Given the description of an element on the screen output the (x, y) to click on. 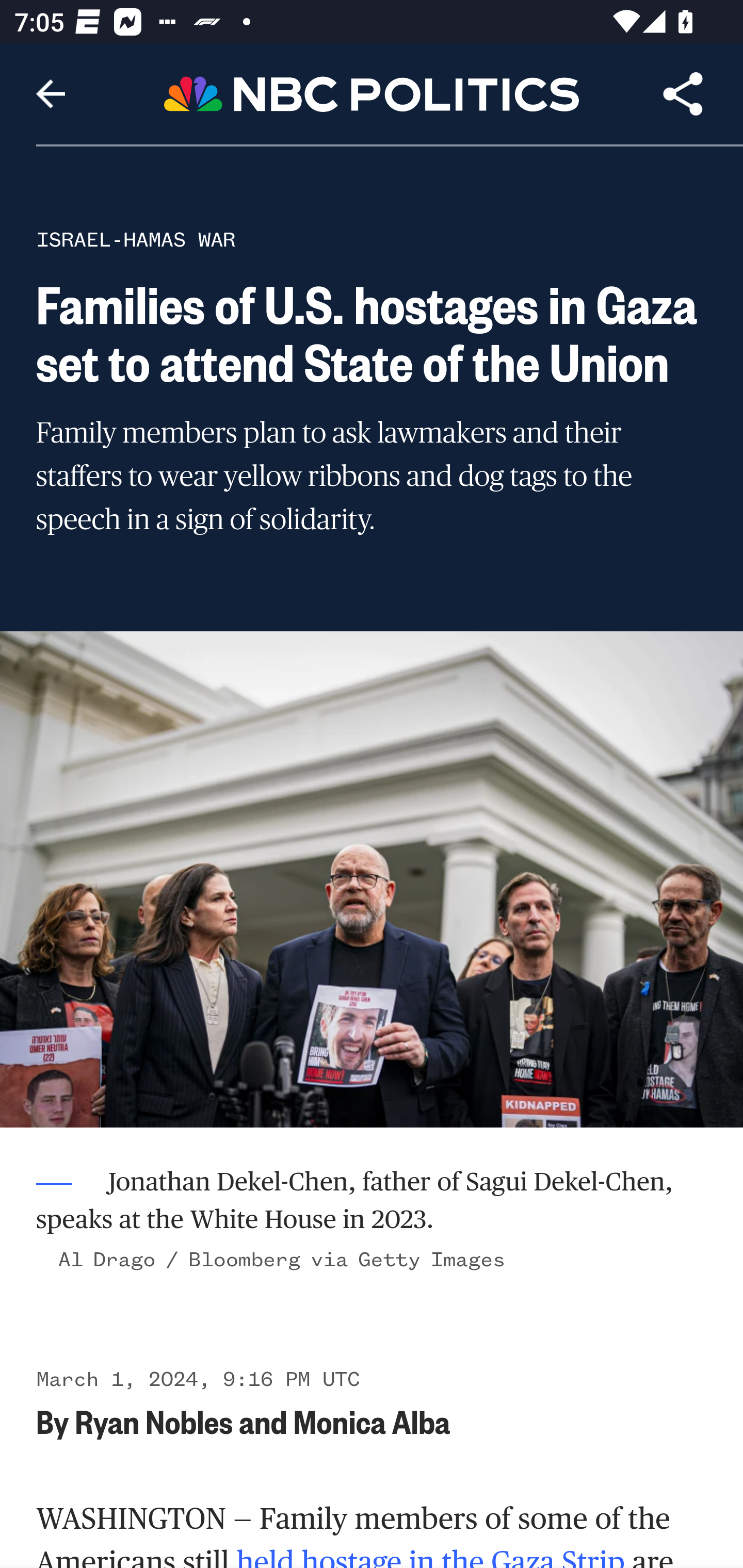
Navigate up (50, 93)
Share Article, button (683, 94)
Header, NBC Politics (371, 93)
ISRAEL-HAMAS WAR (136, 239)
